Given the description of an element on the screen output the (x, y) to click on. 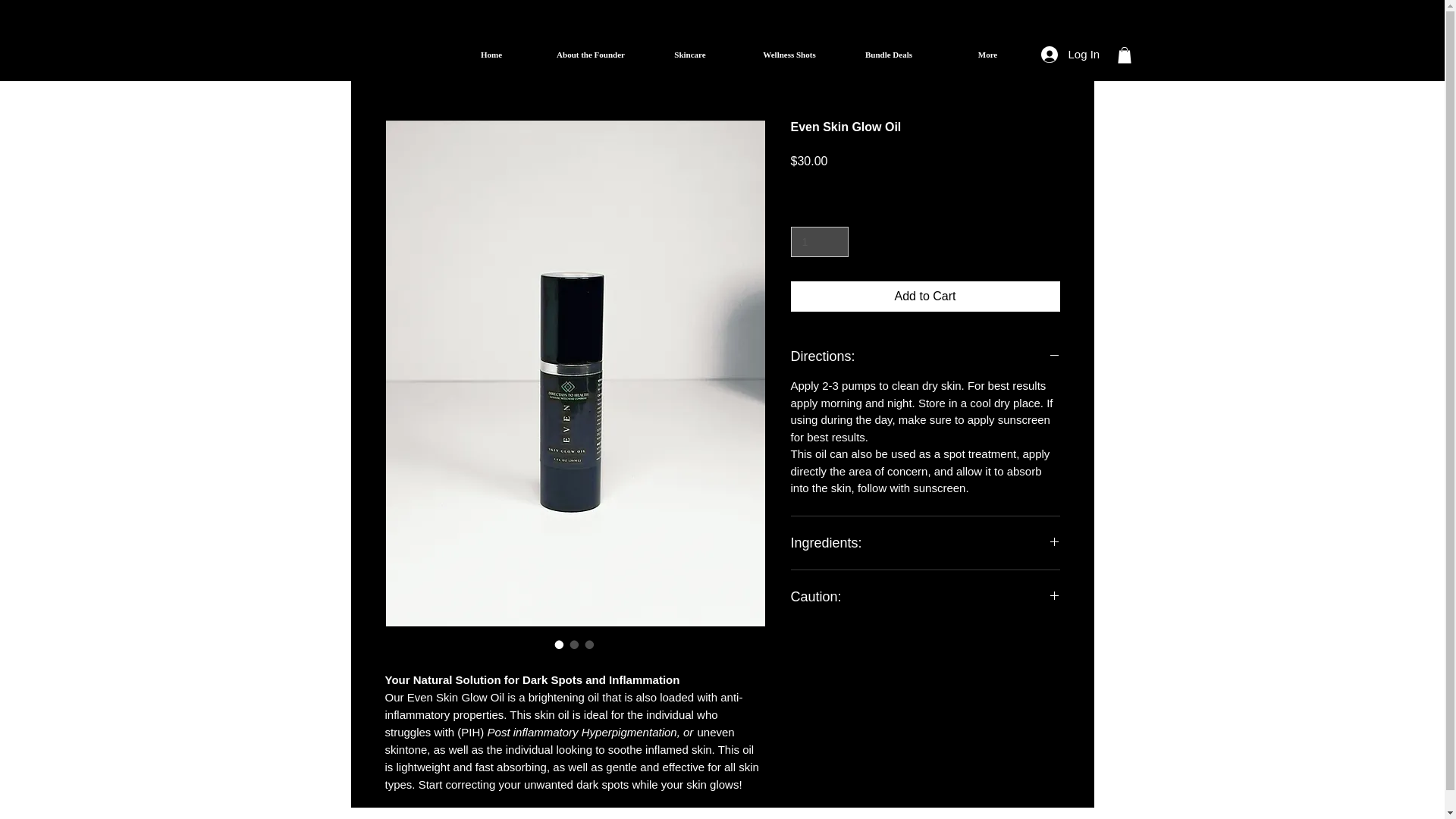
About the Founder (590, 54)
Add to Cart (924, 296)
Bundle Deals (887, 54)
1 (818, 241)
Caution: (924, 596)
Home (490, 54)
Skincare (689, 54)
Directions: (924, 356)
Shipping Policy (949, 183)
Wellness Shots (789, 54)
